Given the description of an element on the screen output the (x, y) to click on. 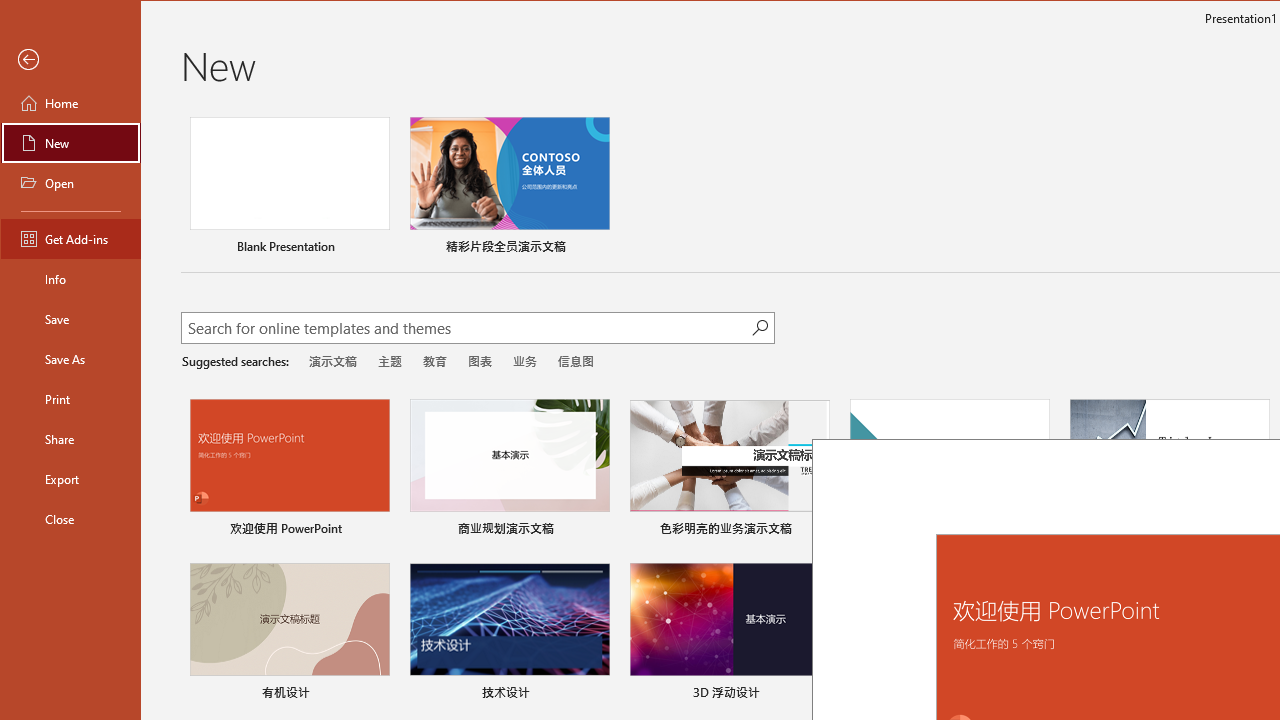
Export (70, 478)
Search for online templates and themes (467, 330)
